Given the description of an element on the screen output the (x, y) to click on. 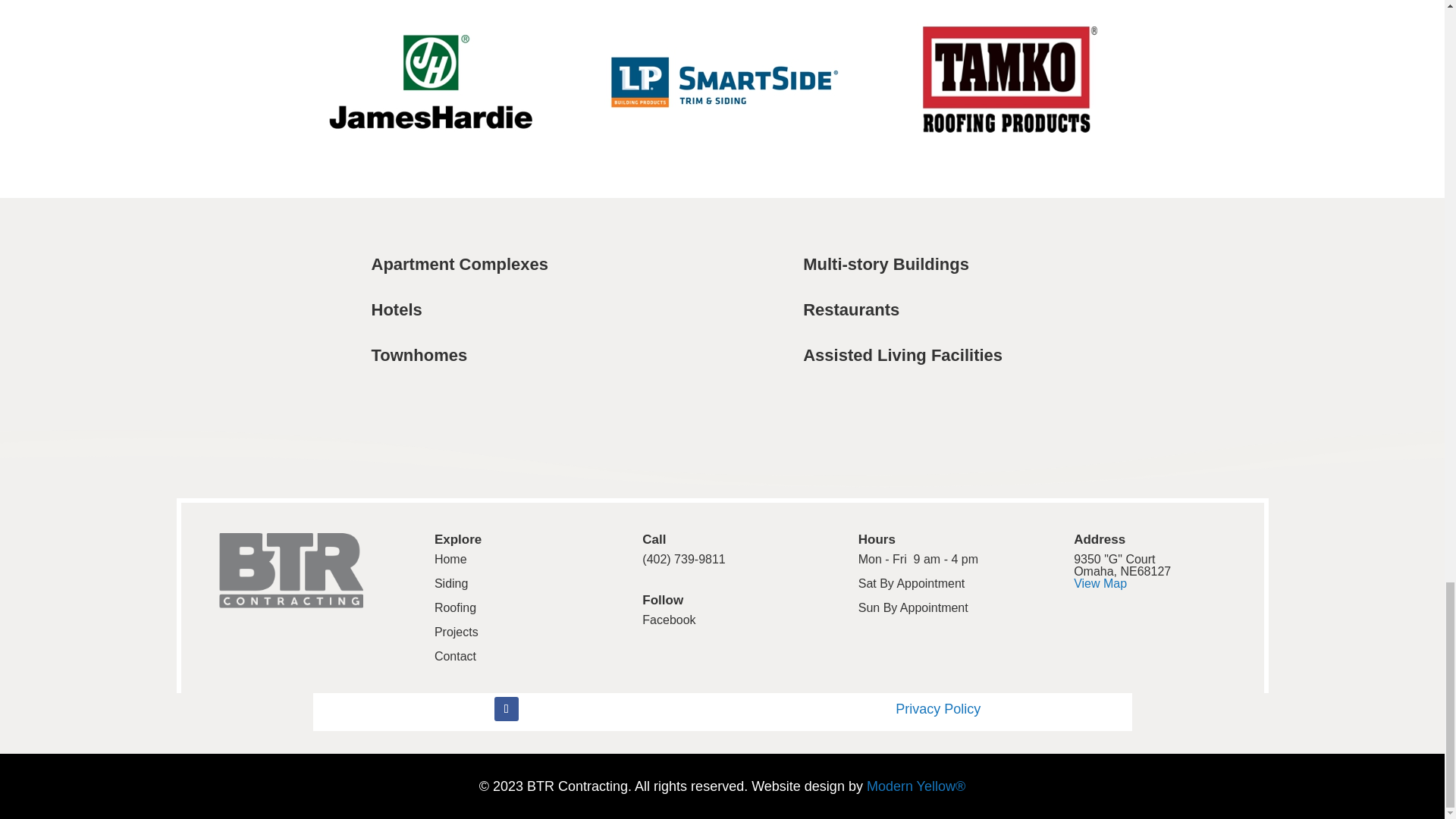
Projects (456, 631)
View Map (1100, 583)
Siding (450, 583)
Facebook (668, 619)
Follow on Facebook (506, 708)
ome (453, 558)
Contact (454, 656)
Roofing (454, 607)
